Given the description of an element on the screen output the (x, y) to click on. 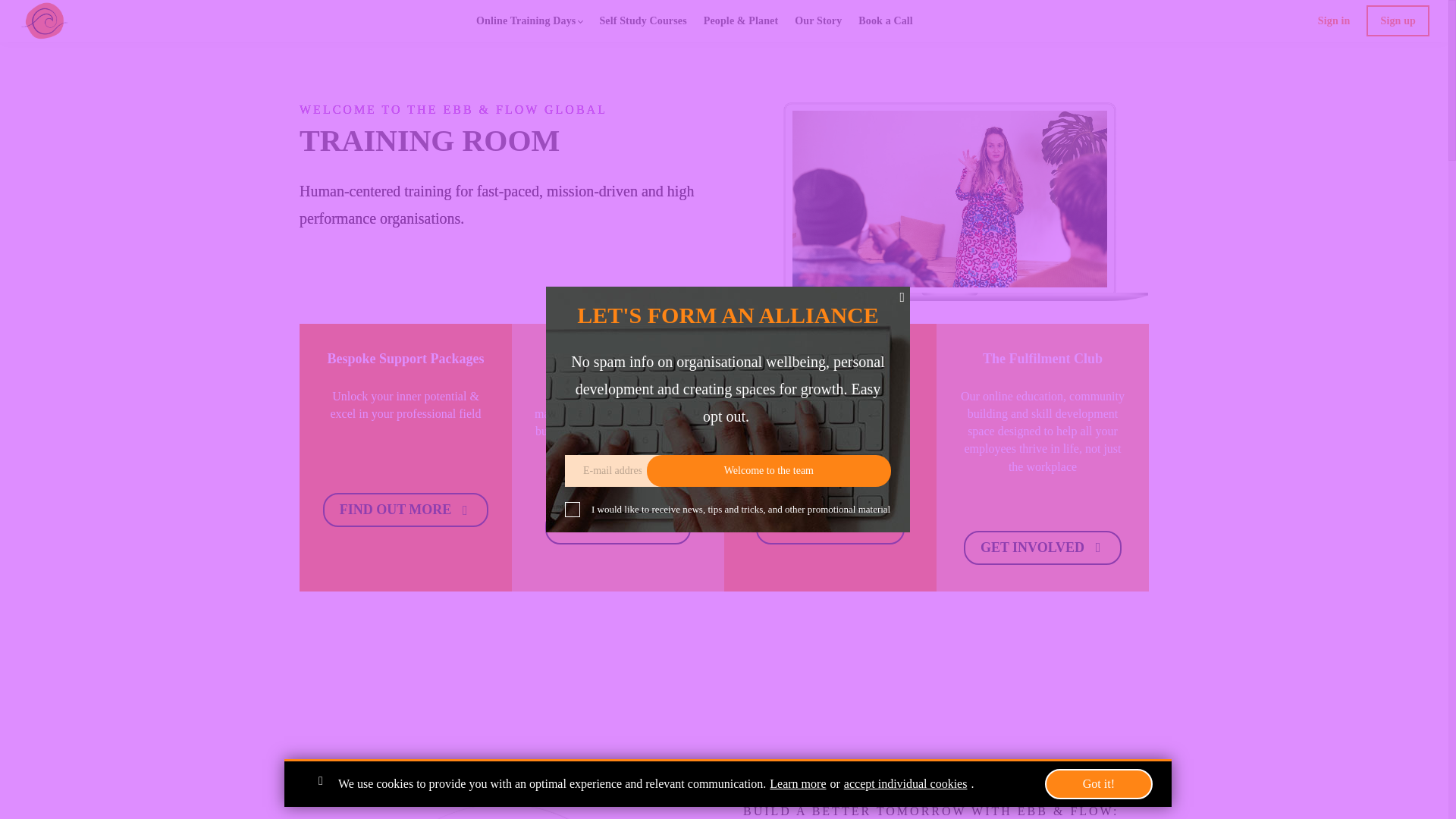
ENROLL NOW (829, 527)
FIND OUT MORE (406, 510)
Welcome to the team (768, 470)
GET INVOLVED (1042, 547)
Sign in (1334, 20)
Self Study Courses (641, 20)
Sign up (1398, 20)
Book a Call (885, 20)
Our Story (817, 20)
SIGN UP NOW (617, 527)
